Given the description of an element on the screen output the (x, y) to click on. 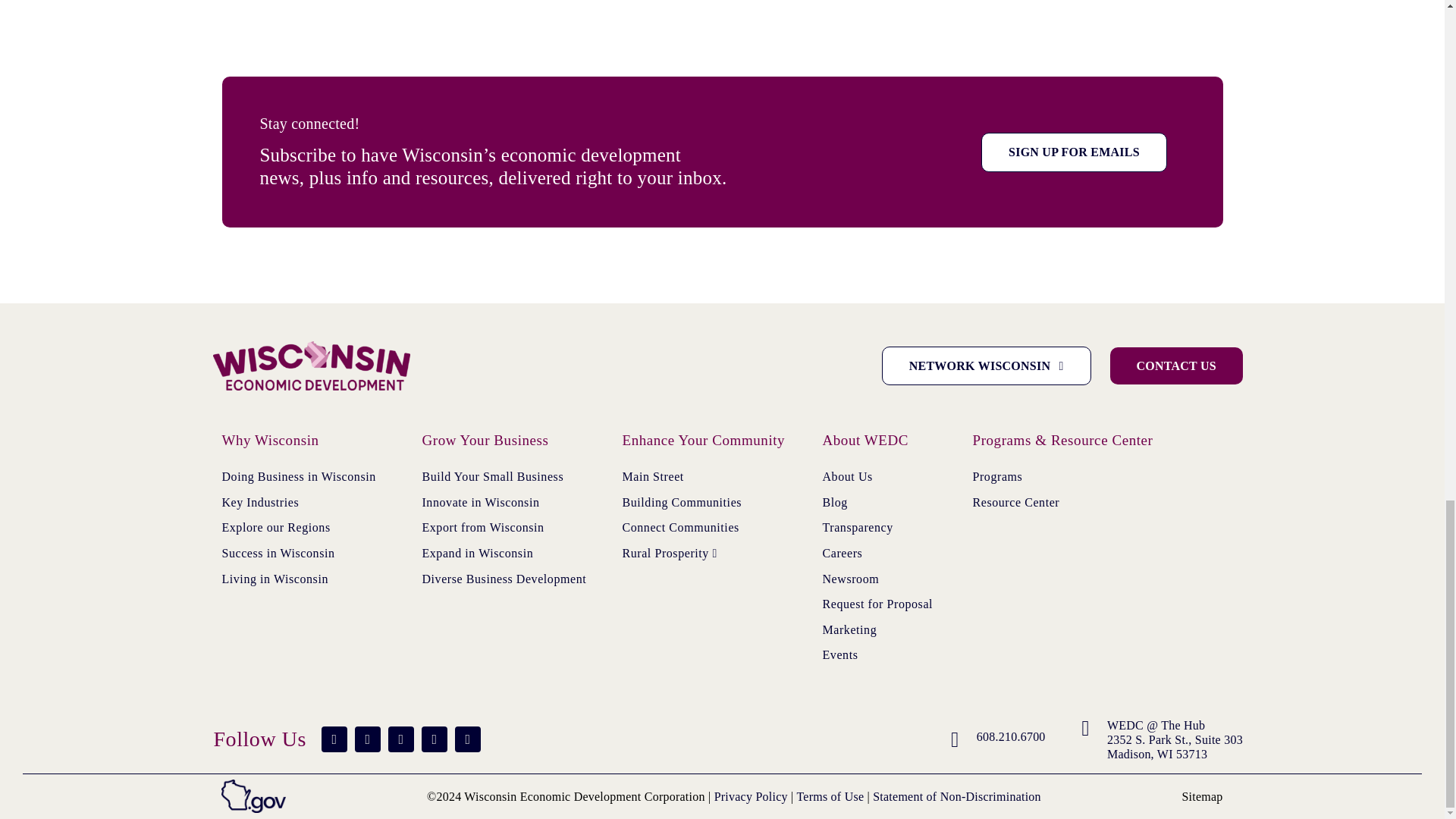
Sign Up For Emails (1074, 151)
Network Wisconsin (986, 365)
Contact Us (1176, 365)
